Given the description of an element on the screen output the (x, y) to click on. 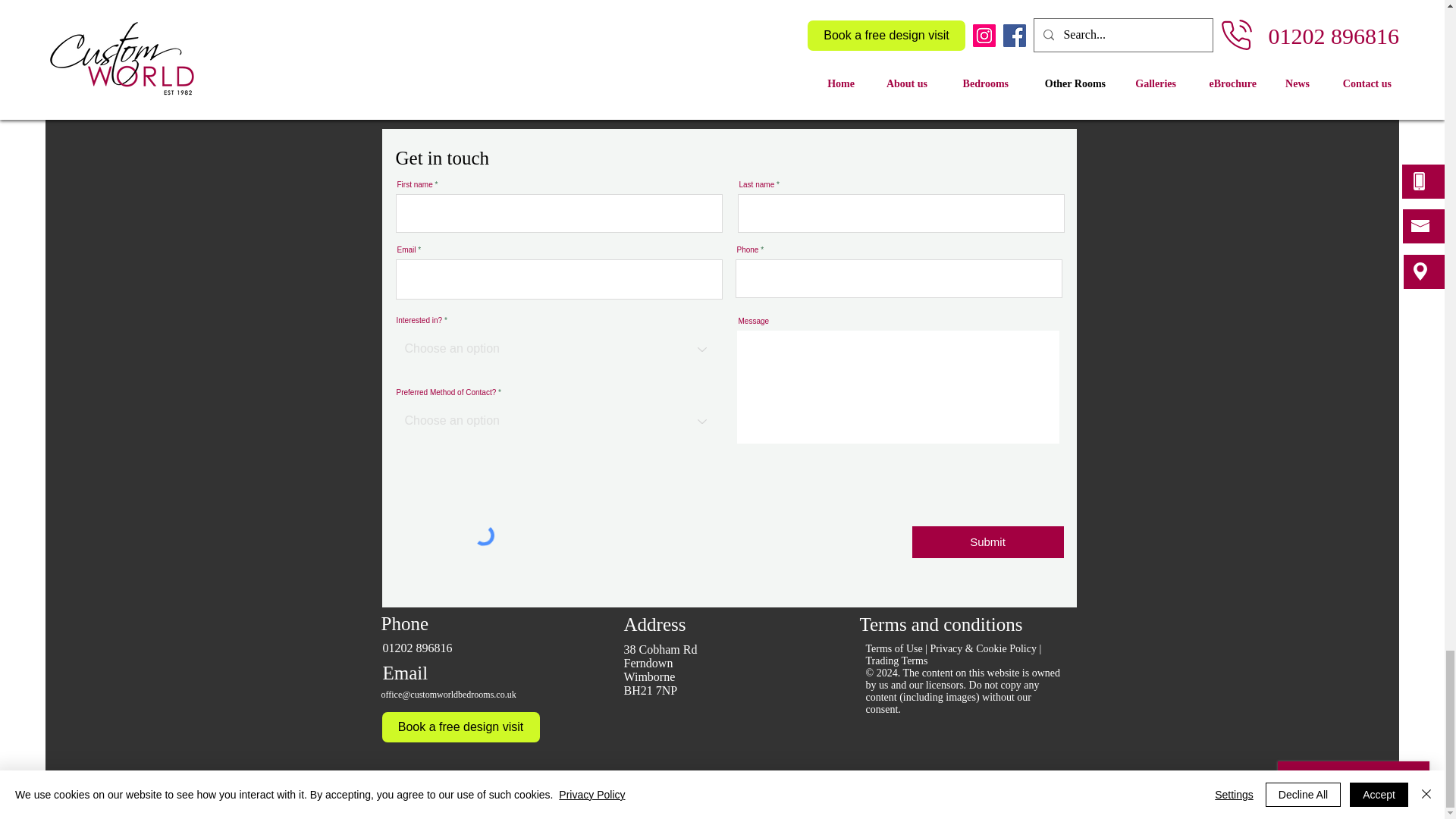
Embedded Content (729, 58)
